Given the description of an element on the screen output the (x, y) to click on. 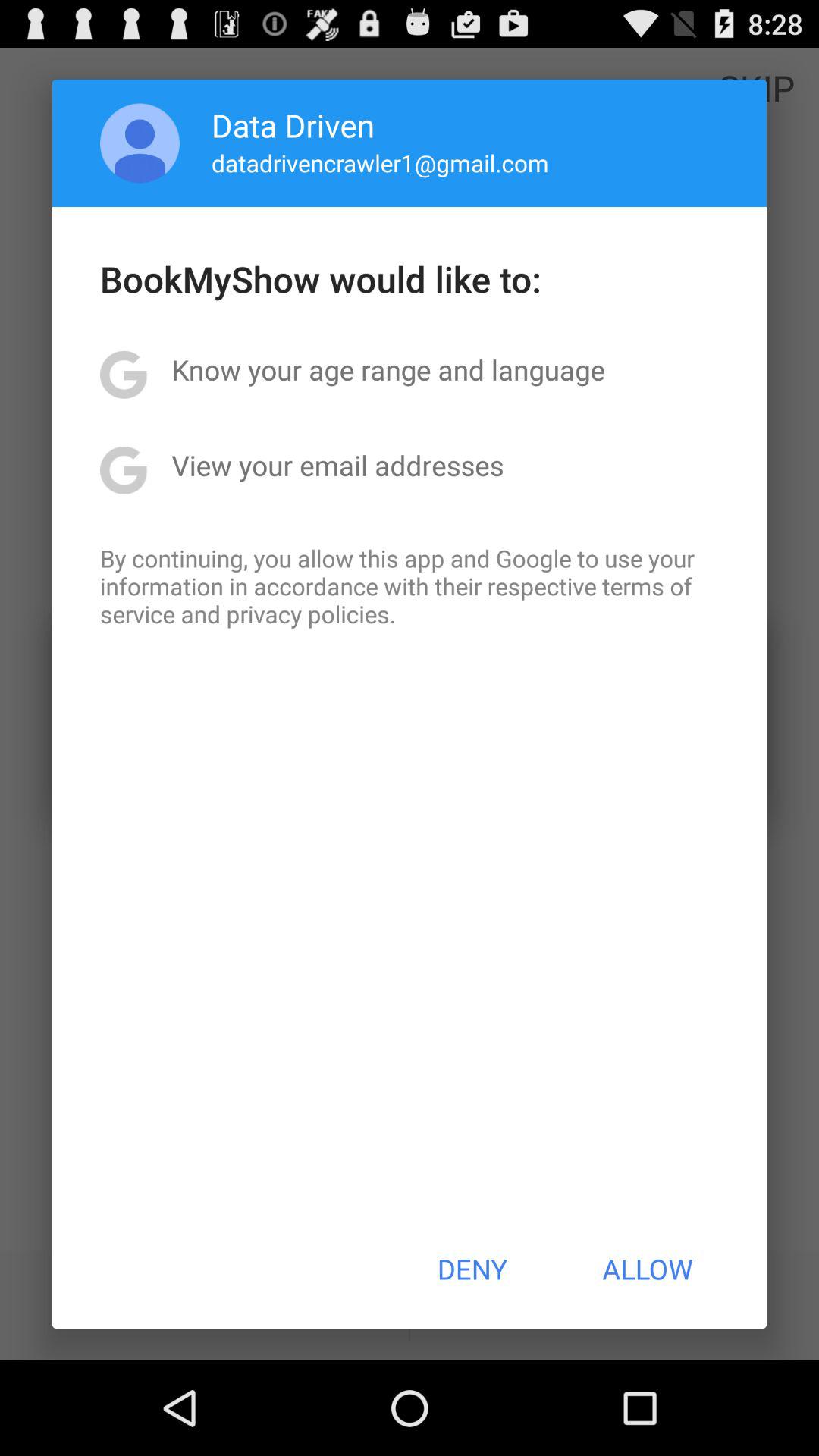
flip until datadrivencrawler1@gmail.com icon (379, 162)
